Given the description of an element on the screen output the (x, y) to click on. 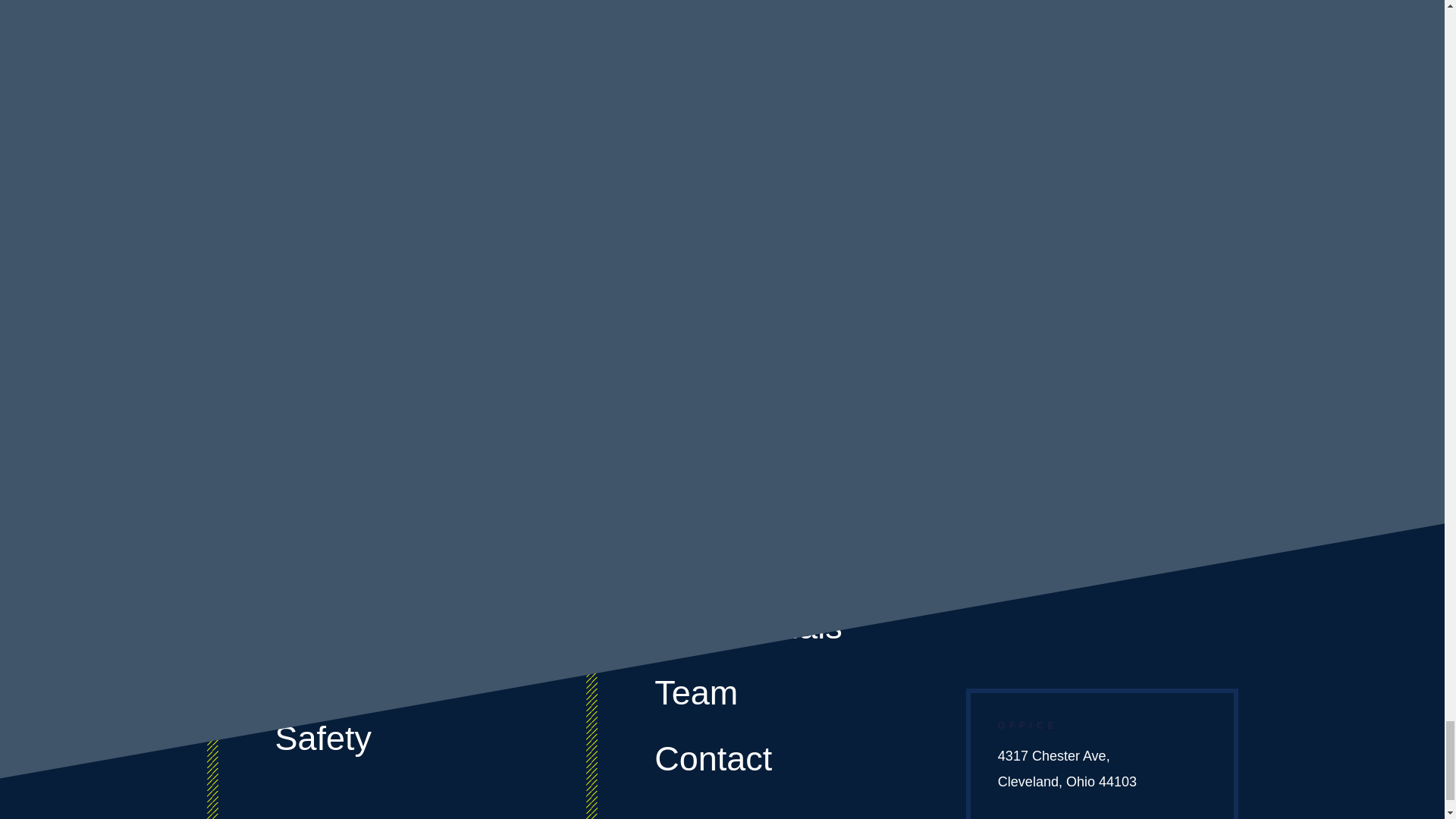
CONTACT (475, 25)
Submit (1179, 271)
